Given the description of an element on the screen output the (x, y) to click on. 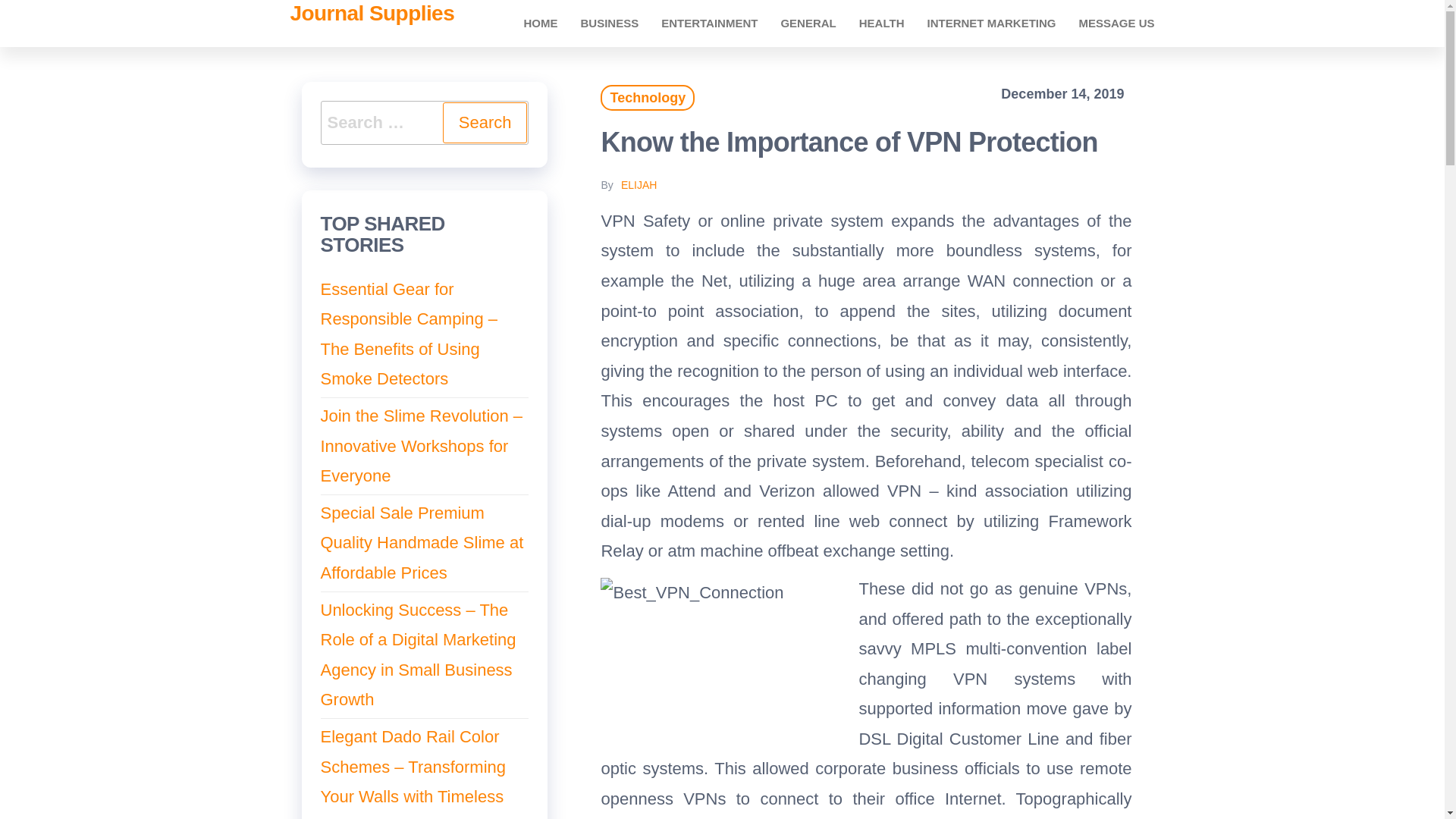
Health (881, 22)
BUSINESS (609, 22)
ENTERTAINMENT (708, 22)
Message us (1116, 22)
Journal Supplies (371, 13)
HEALTH (881, 22)
Search (484, 122)
Business (609, 22)
Search (484, 122)
General (807, 22)
Home (540, 22)
MESSAGE US (1116, 22)
INTERNET MARKETING (991, 22)
ELIJAH (638, 184)
